Given the description of an element on the screen output the (x, y) to click on. 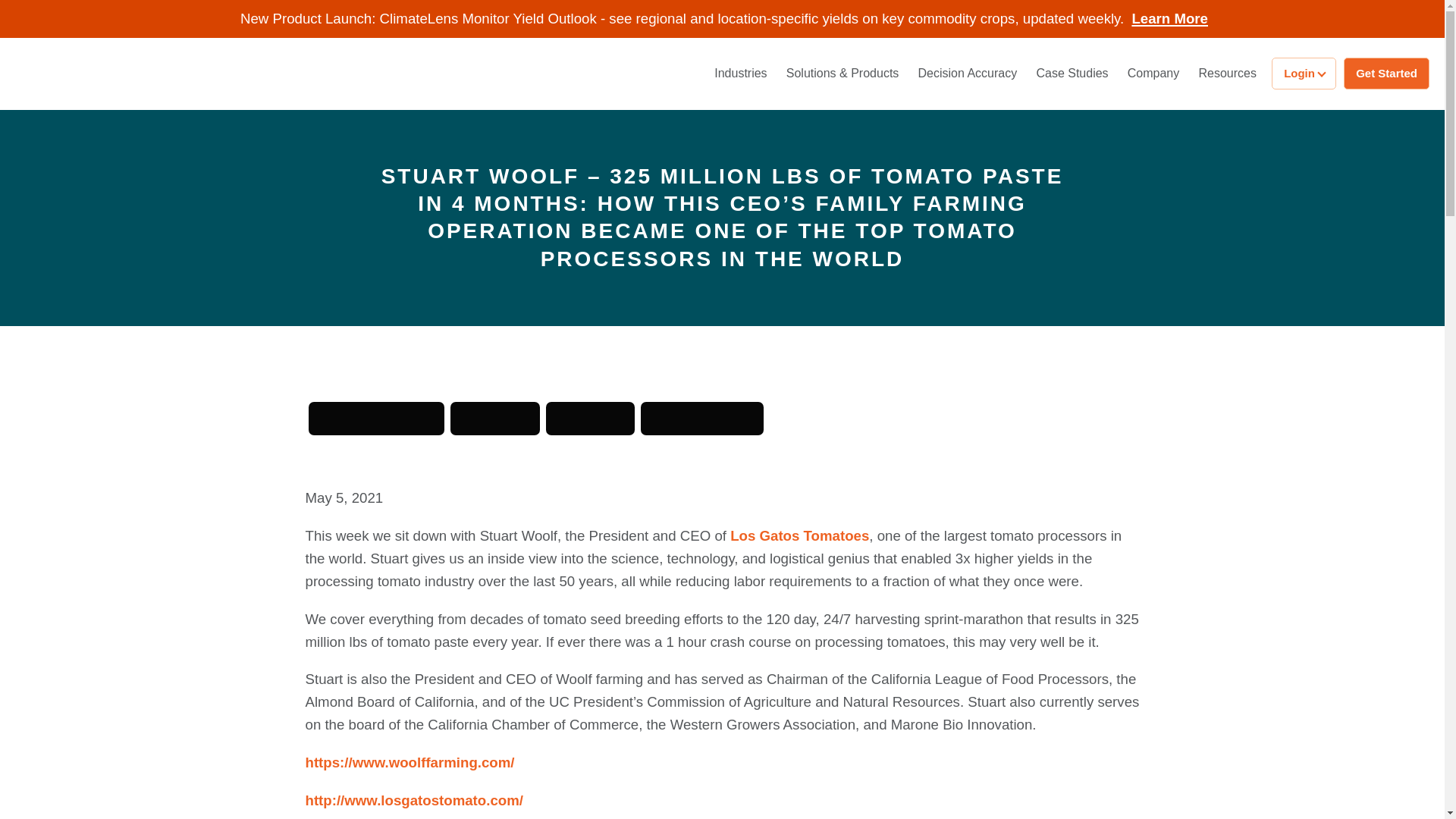
Login (1303, 73)
Decision Accuracy (968, 73)
Company (1152, 73)
Get Started (1386, 73)
Industries (740, 73)
Skip to main content (67, 7)
Resources (1227, 73)
Case Studies (1071, 73)
